Given the description of an element on the screen output the (x, y) to click on. 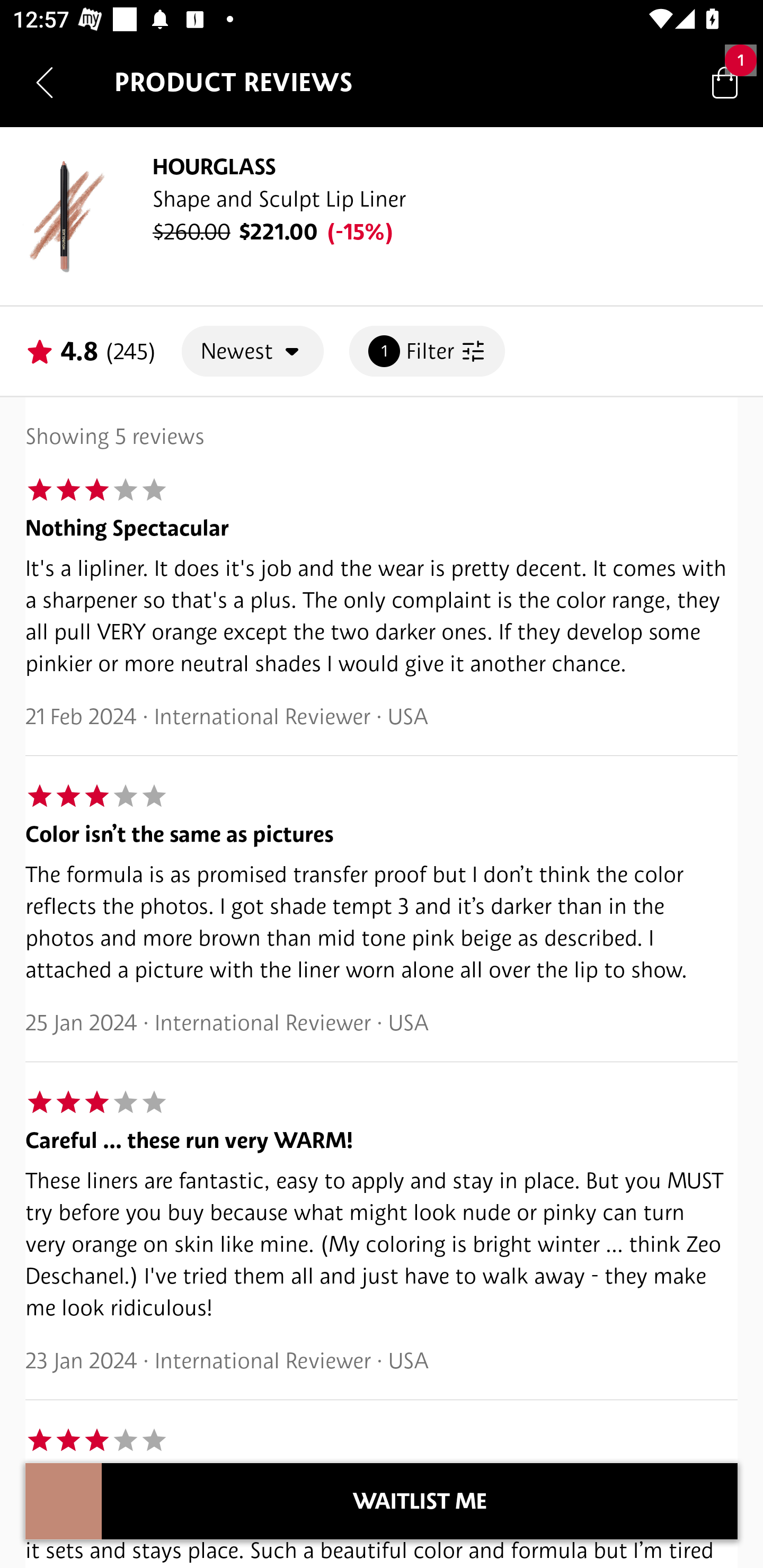
Navigate up (44, 82)
Bag (724, 81)
Newest (252, 351)
1 Filter (427, 351)
WAITLIST ME (419, 1500)
